Given the description of an element on the screen output the (x, y) to click on. 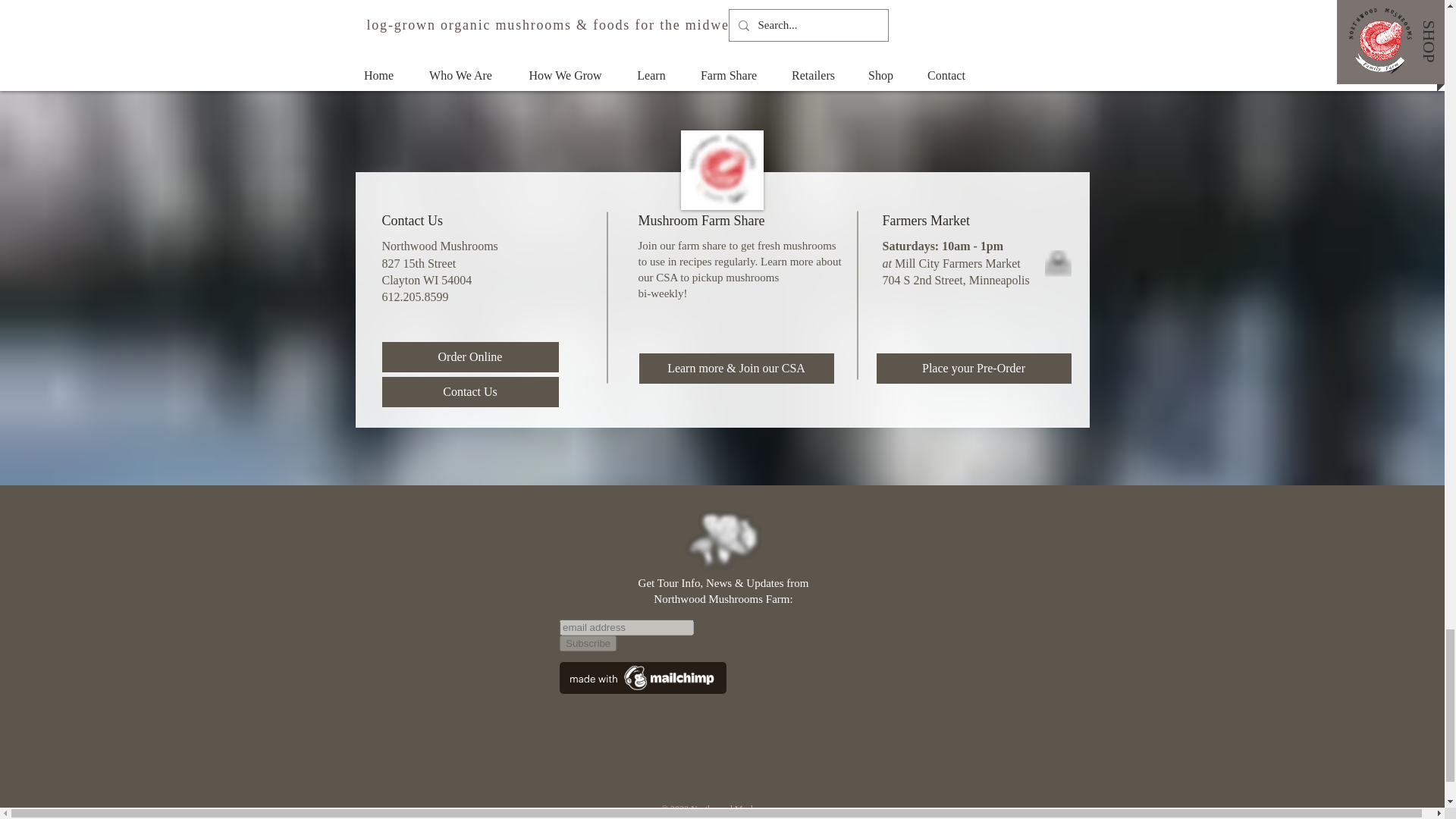
Place your Pre-Order (973, 368)
Embedded Content (719, 689)
Contact Us (470, 391)
Order Online (470, 357)
Thank you supporters! (1078, 3)
